Given the description of an element on the screen output the (x, y) to click on. 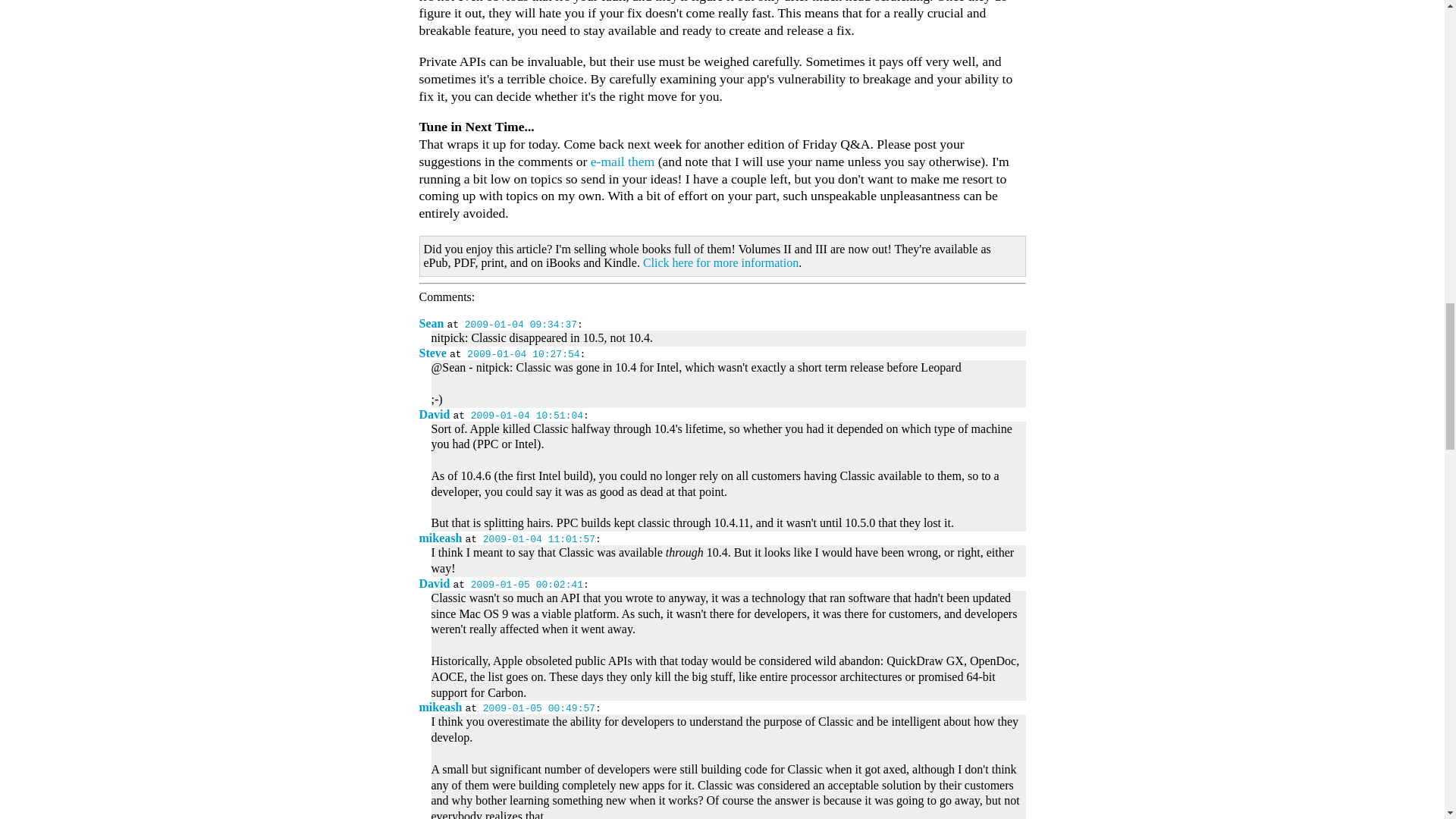
David (434, 413)
2009-01-04 10:51:04 (526, 415)
2009-01-04 10:27:54 (523, 354)
Steve (432, 352)
Sean (431, 323)
Click here for more information (720, 262)
e-mail them (623, 160)
mikeash (440, 537)
2009-01-04 09:34:37 (520, 324)
2009-01-04 11:01:57 (539, 539)
